Given the description of an element on the screen output the (x, y) to click on. 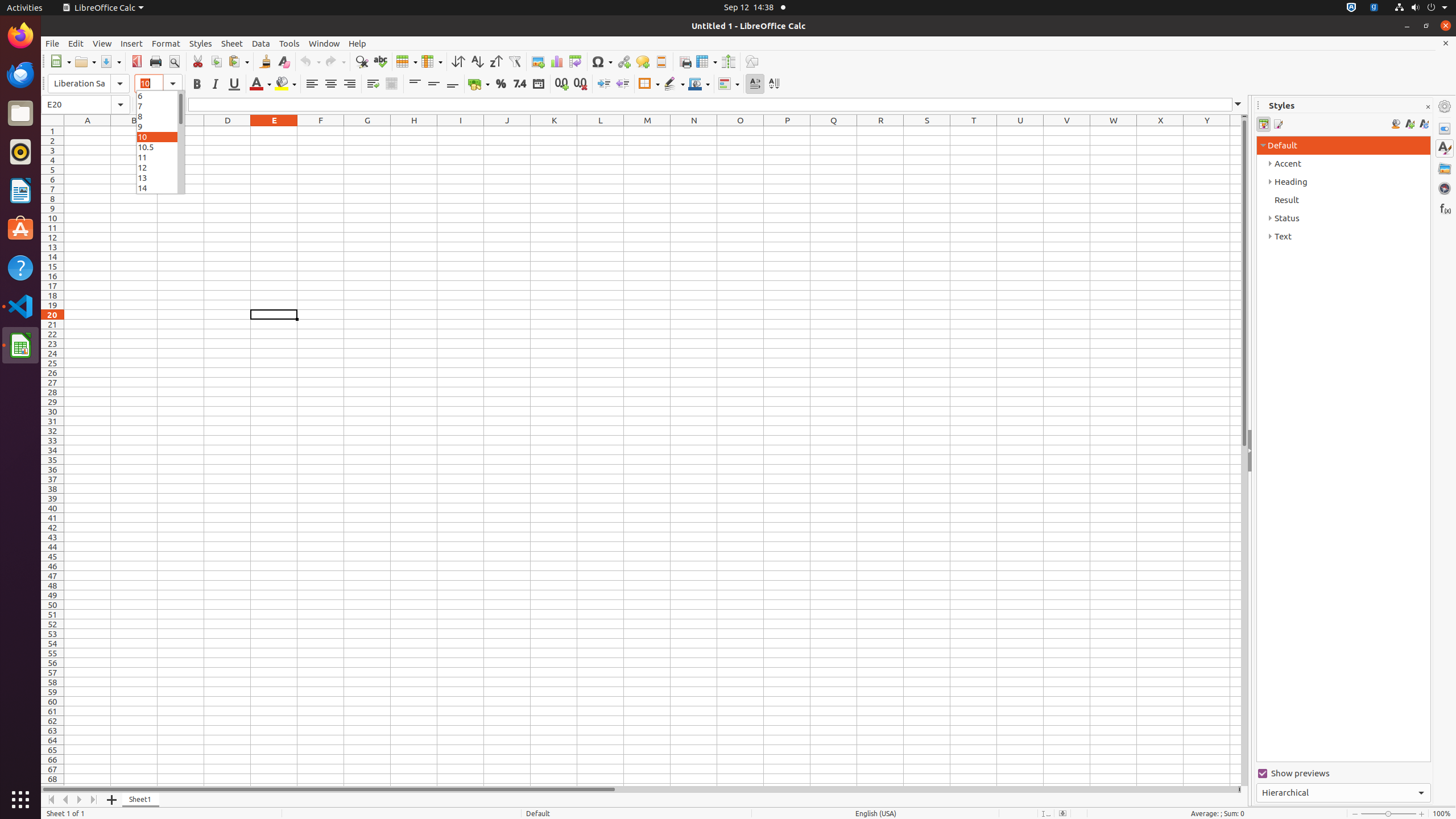
13 Element type: list-item (160, 177)
E1 Element type: table-cell (273, 130)
Print Element type: push-button (155, 61)
Column Element type: push-button (431, 61)
Sort Descending Element type: push-button (495, 61)
